Given the description of an element on the screen output the (x, y) to click on. 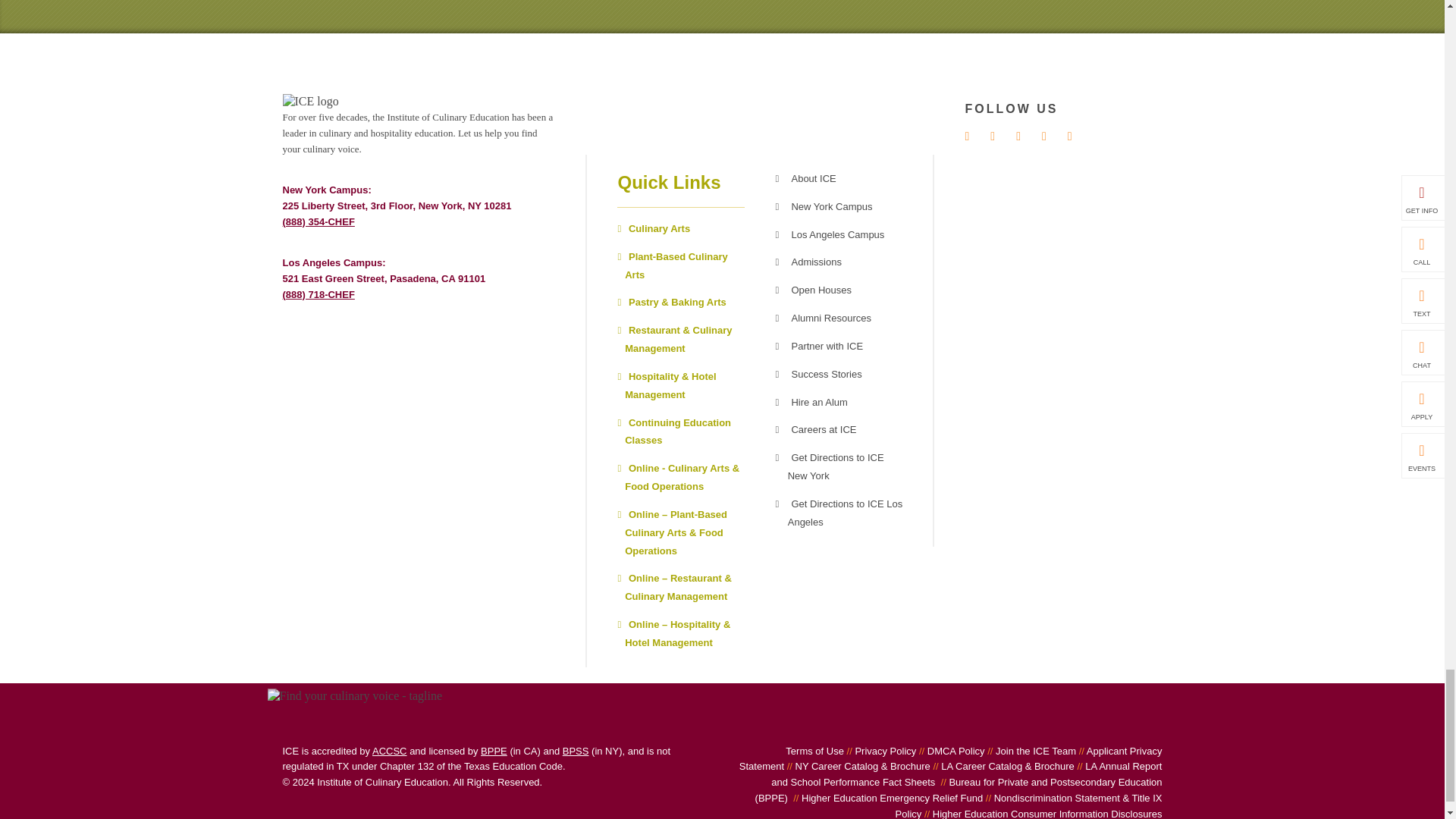
Bureau for Private Postsecondary Education (493, 749)
Accrediting Commission of Career Schools and Colleges (389, 749)
